Given the description of an element on the screen output the (x, y) to click on. 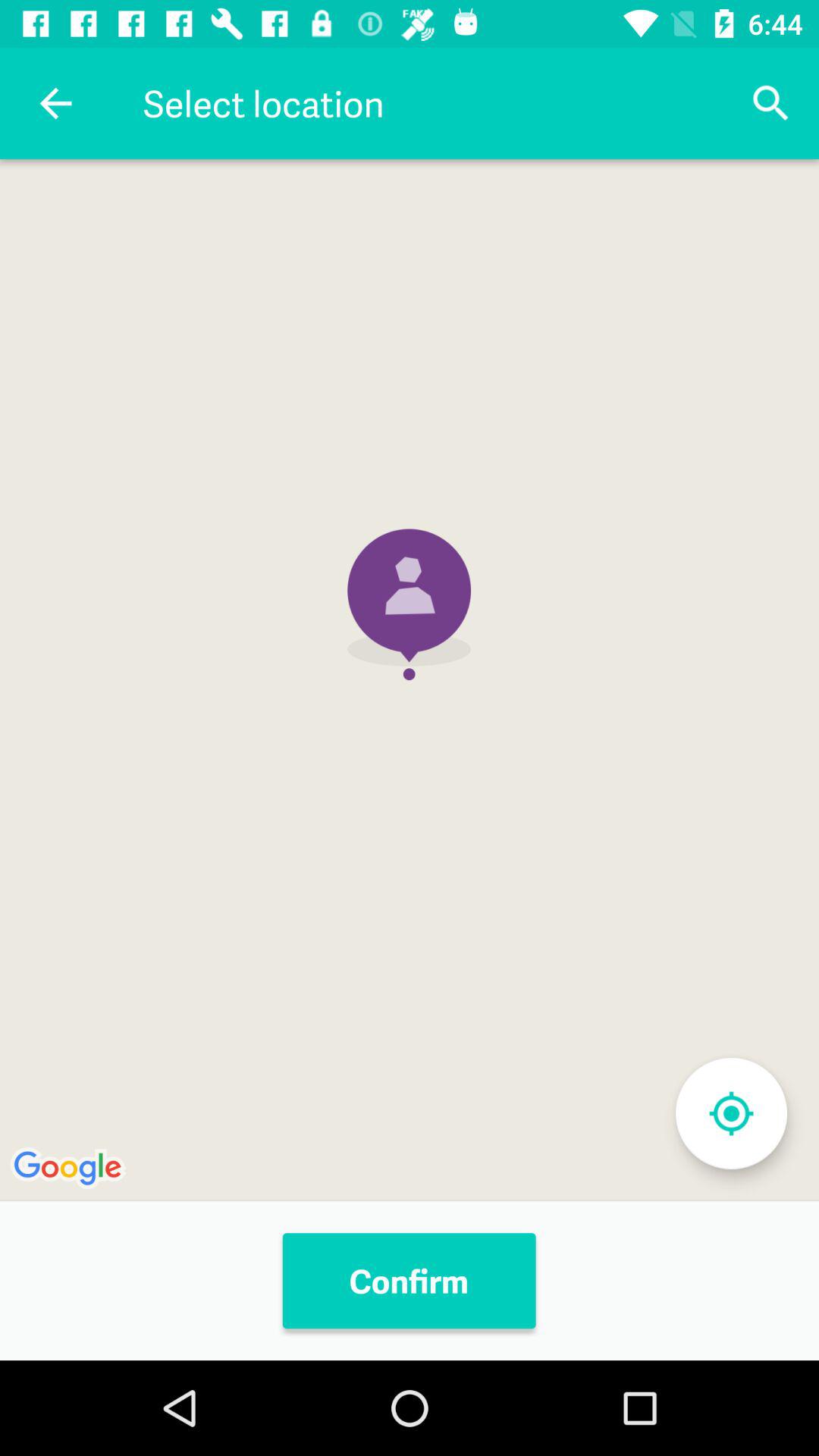
turn on icon next to select location (55, 103)
